Given the description of an element on the screen output the (x, y) to click on. 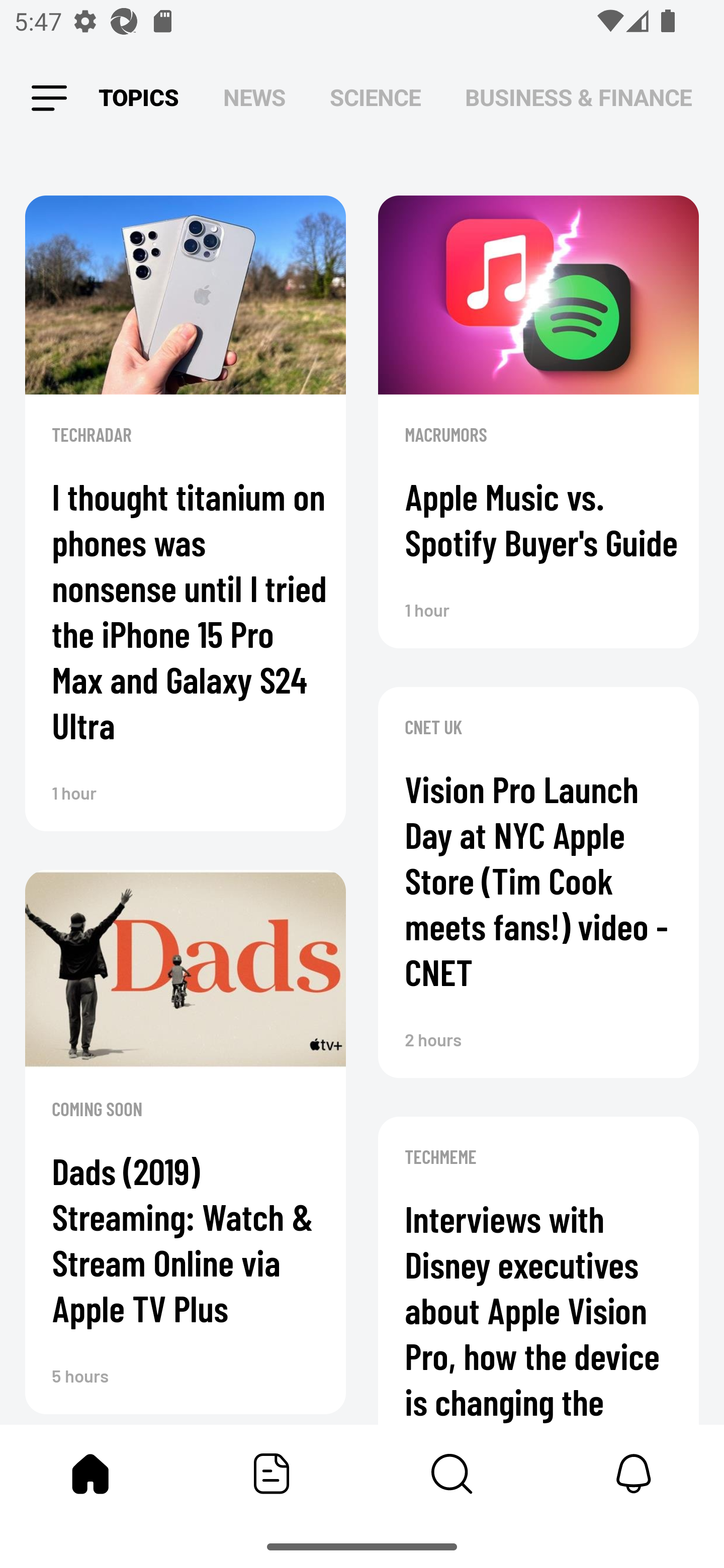
Leading Icon (49, 98)
NEWS (254, 97)
SCIENCE (375, 97)
BUSINESS & FINANCE (578, 97)
Featured (271, 1473)
Content Store (452, 1473)
Notifications (633, 1473)
